Given the description of an element on the screen output the (x, y) to click on. 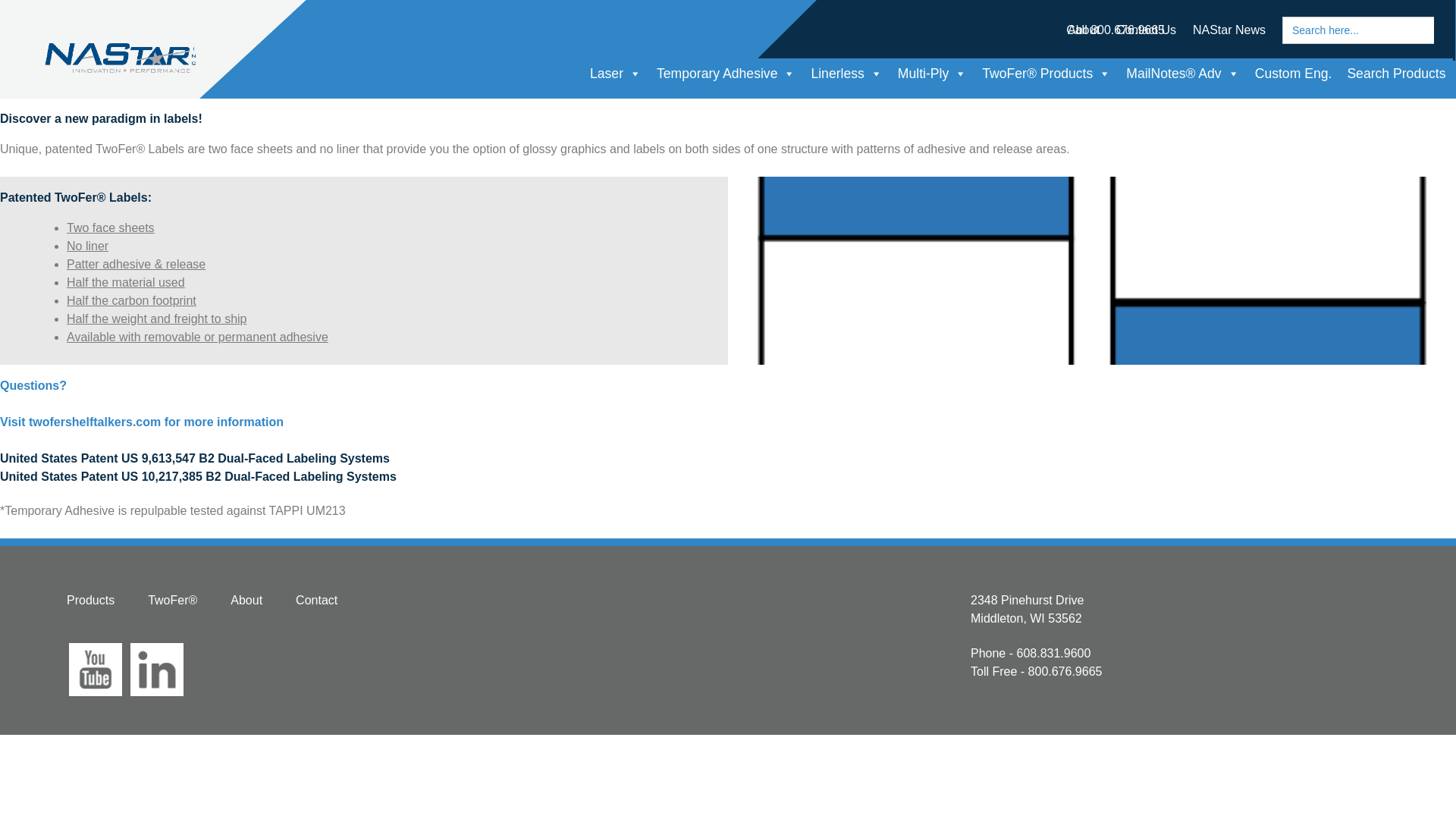
Contact Us (1146, 30)
Temporary Adhesive (726, 73)
Laser (615, 73)
NAStar News (1228, 30)
Multi-Ply (931, 73)
About (1083, 30)
Custom Eng. (1293, 73)
NAStar Inc. (64, 55)
Linerless (846, 73)
